Given the description of an element on the screen output the (x, y) to click on. 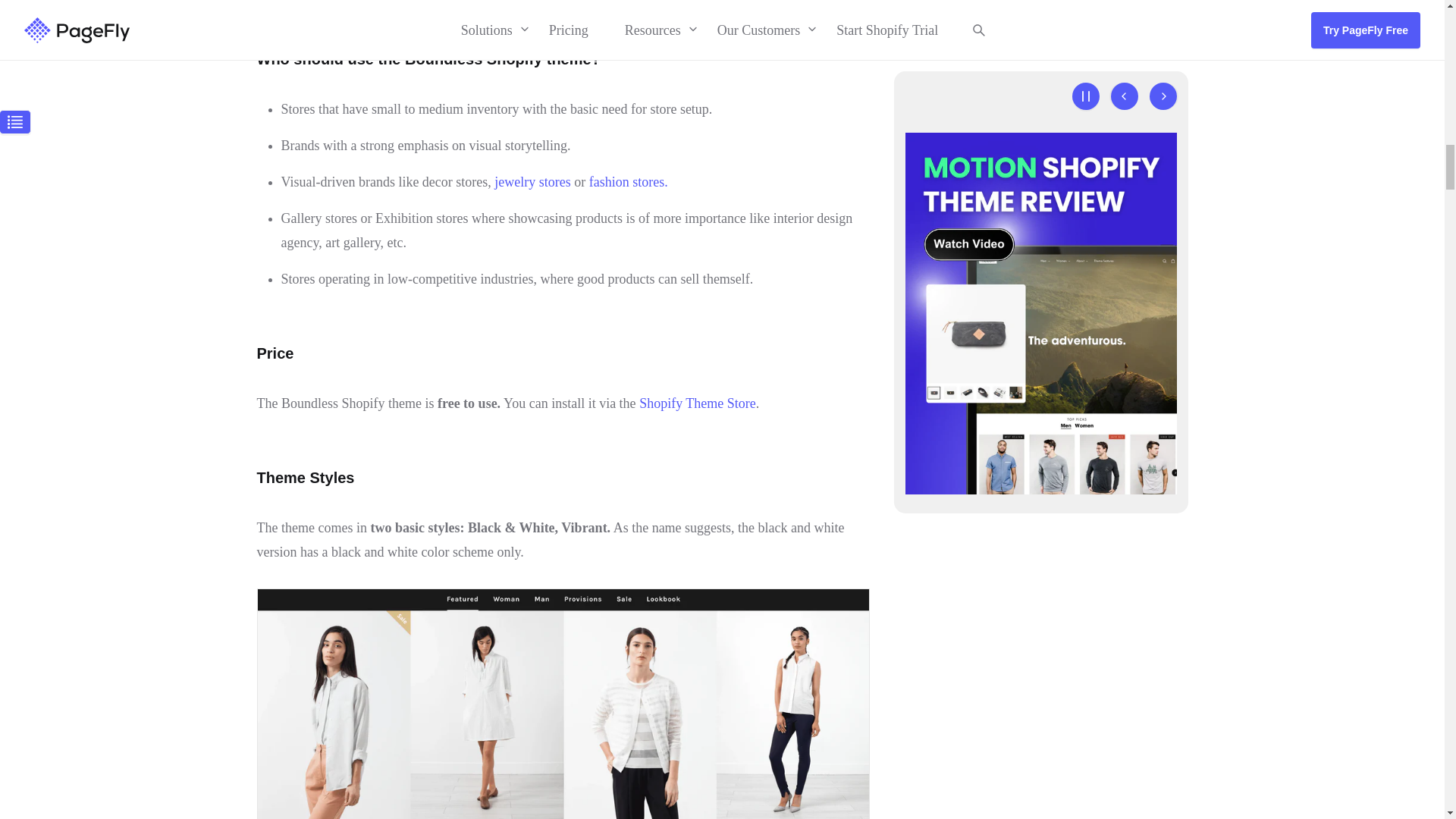
Best Shopify Jewelry Stores (532, 181)
How to sell clothes online (628, 181)
